Given the description of an element on the screen output the (x, y) to click on. 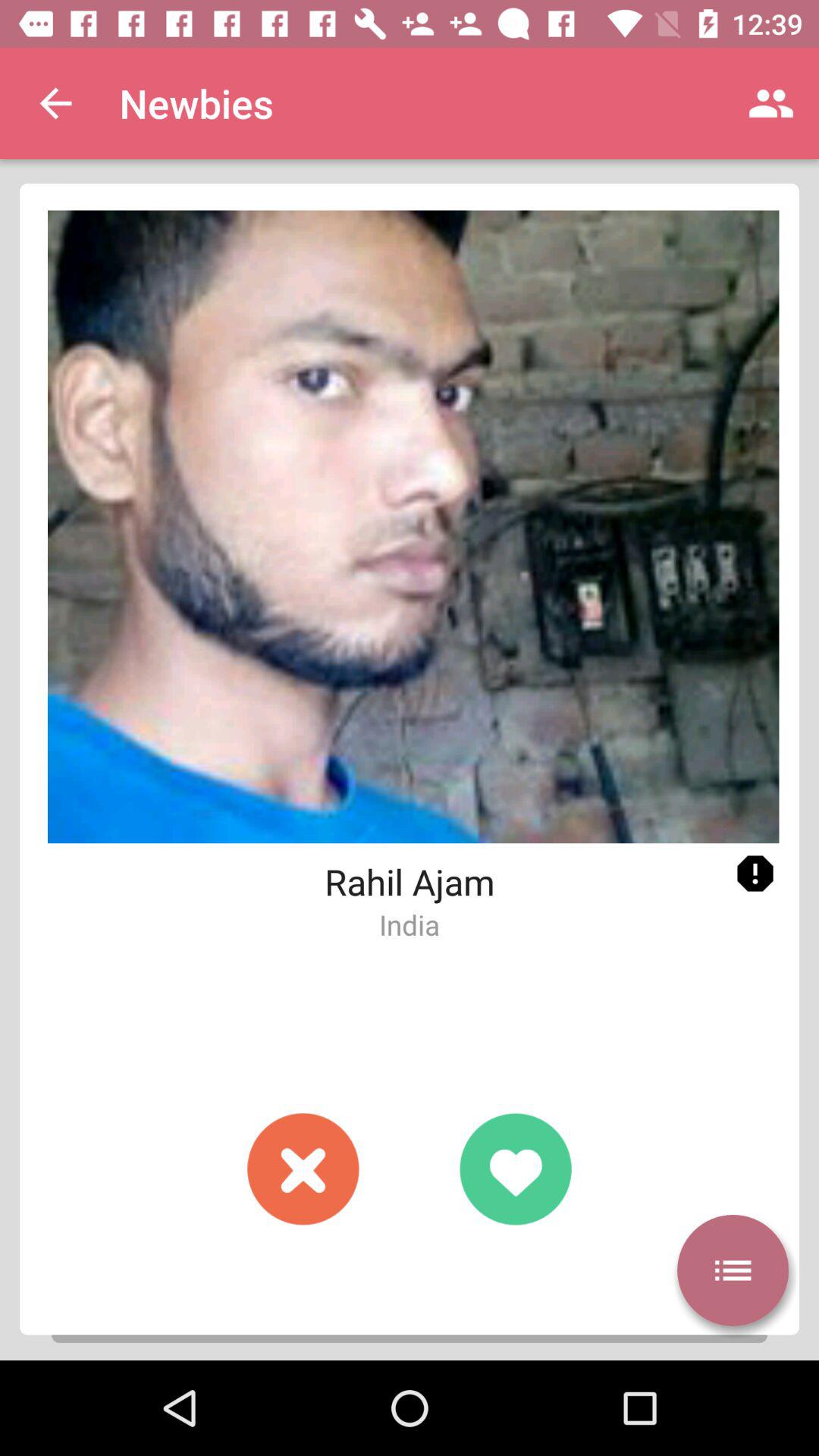
click the blinking red circle with an x in it if you do not wish to go further with this profile (303, 1169)
